Given the description of an element on the screen output the (x, y) to click on. 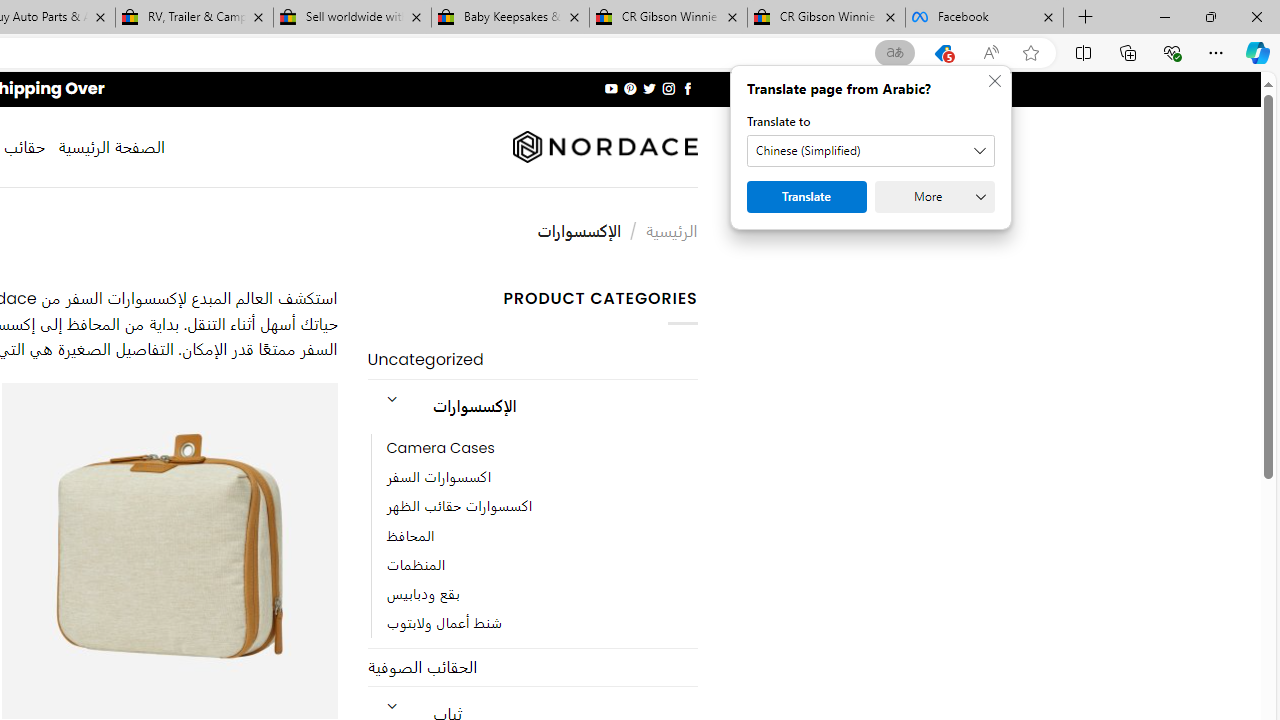
Translate to (870, 151)
Baby Keepsakes & Announcements for sale | eBay (509, 17)
This site has coupons! Shopping in Microsoft Edge, 5 (943, 53)
